Given the description of an element on the screen output the (x, y) to click on. 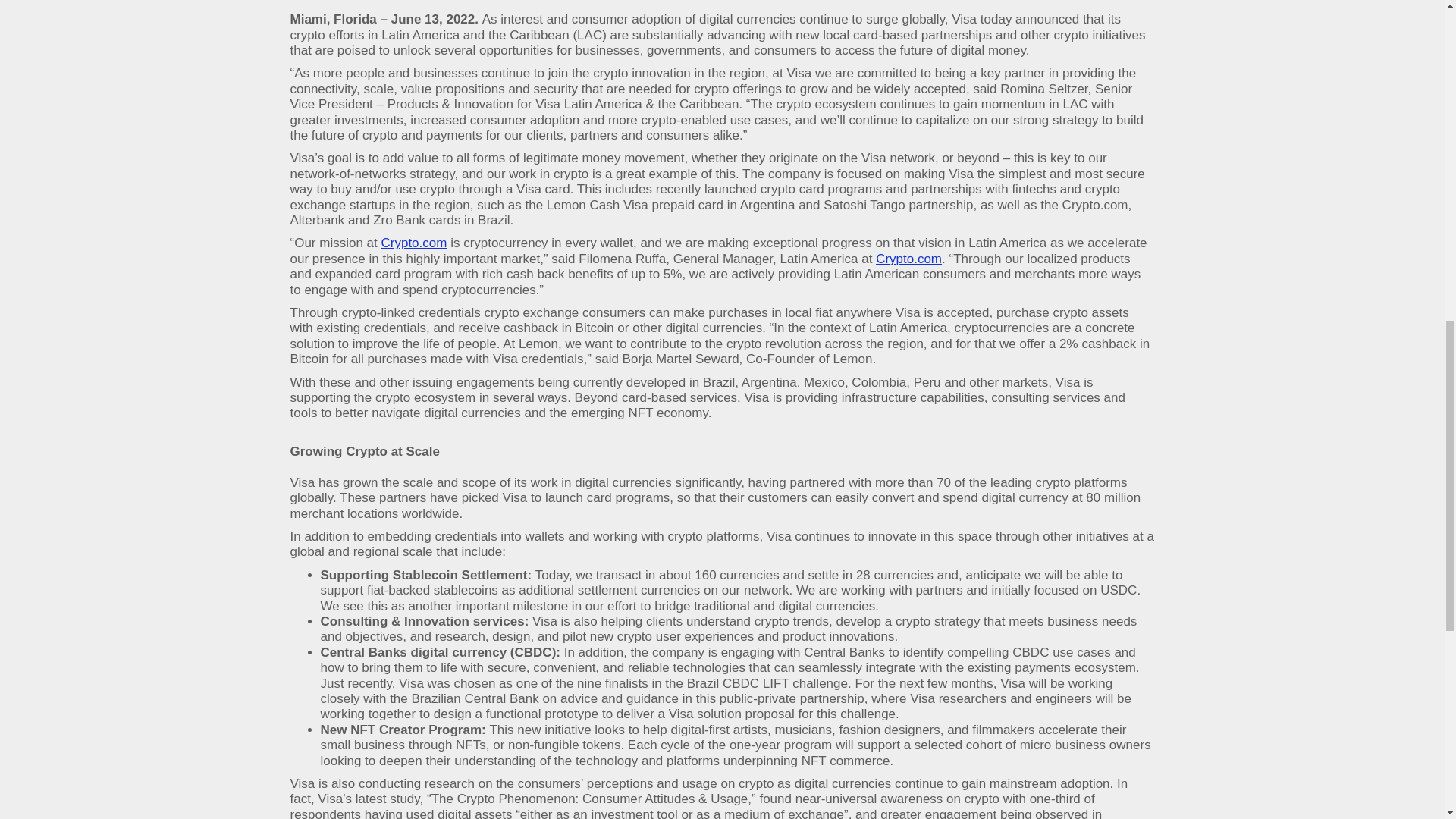
Crypto.com (909, 258)
Crypto.com (413, 242)
